Given the description of an element on the screen output the (x, y) to click on. 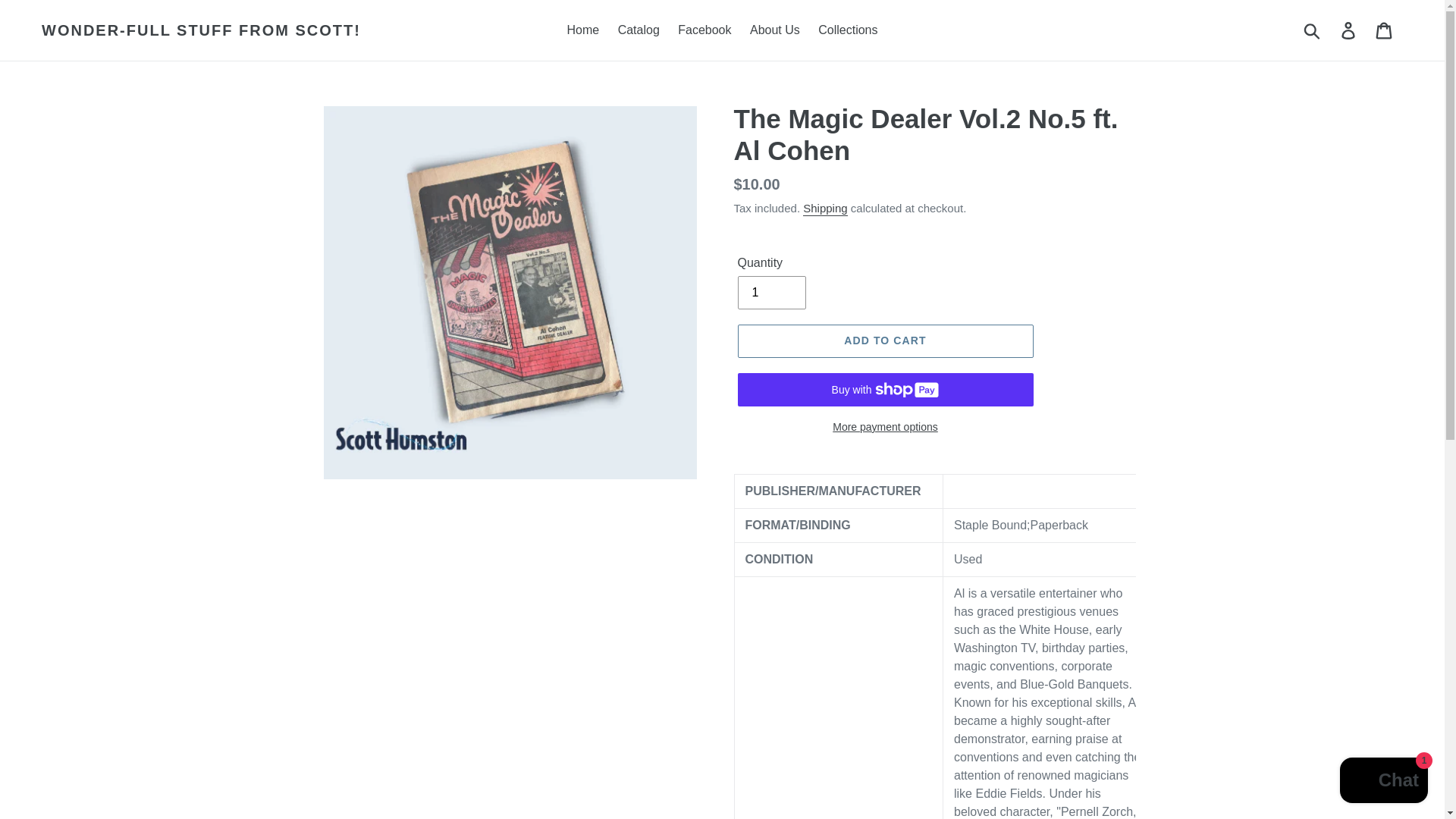
More payment options (884, 426)
Home (583, 29)
1 (770, 292)
Log in (1349, 29)
Collections (847, 29)
Shopify online store chat (1383, 781)
Submit (1313, 29)
Shipping (825, 208)
About Us (775, 29)
ADD TO CART (884, 340)
Catalog (638, 29)
Facebook (703, 29)
WONDER-FULL STUFF FROM SCOTT! (201, 30)
Cart (1385, 29)
